Given the description of an element on the screen output the (x, y) to click on. 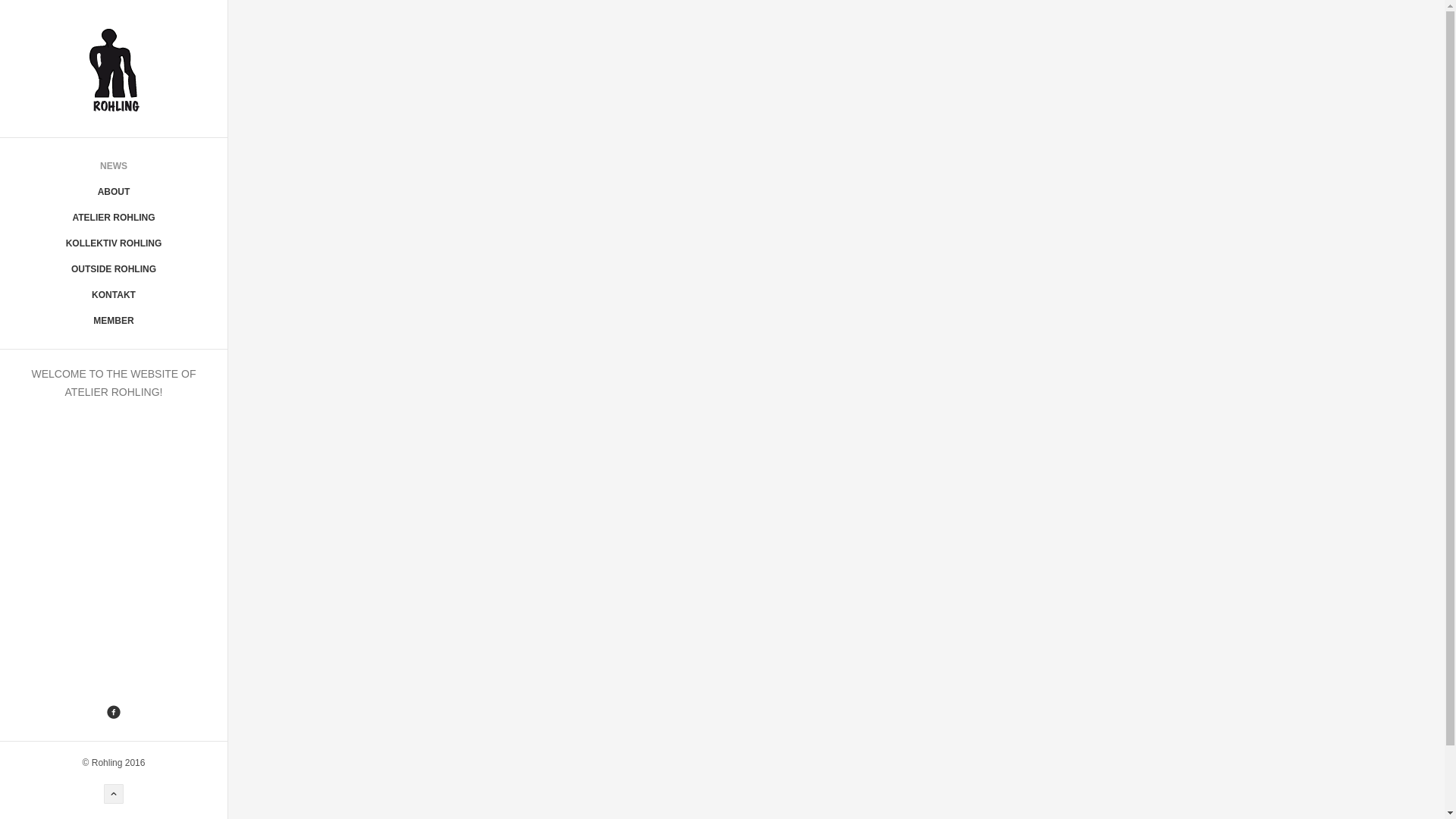
ABOUT Element type: text (113, 191)
ATELIER ROHLING Element type: text (113, 217)
MEMBER Element type: text (113, 320)
OUTSIDE ROHLING Element type: text (113, 269)
NEWS Element type: text (113, 165)
KOLLEKTIV ROHLING Element type: text (113, 243)
KONTAKT Element type: text (113, 294)
rohling Element type: hover (113, 68)
